Given the description of an element on the screen output the (x, y) to click on. 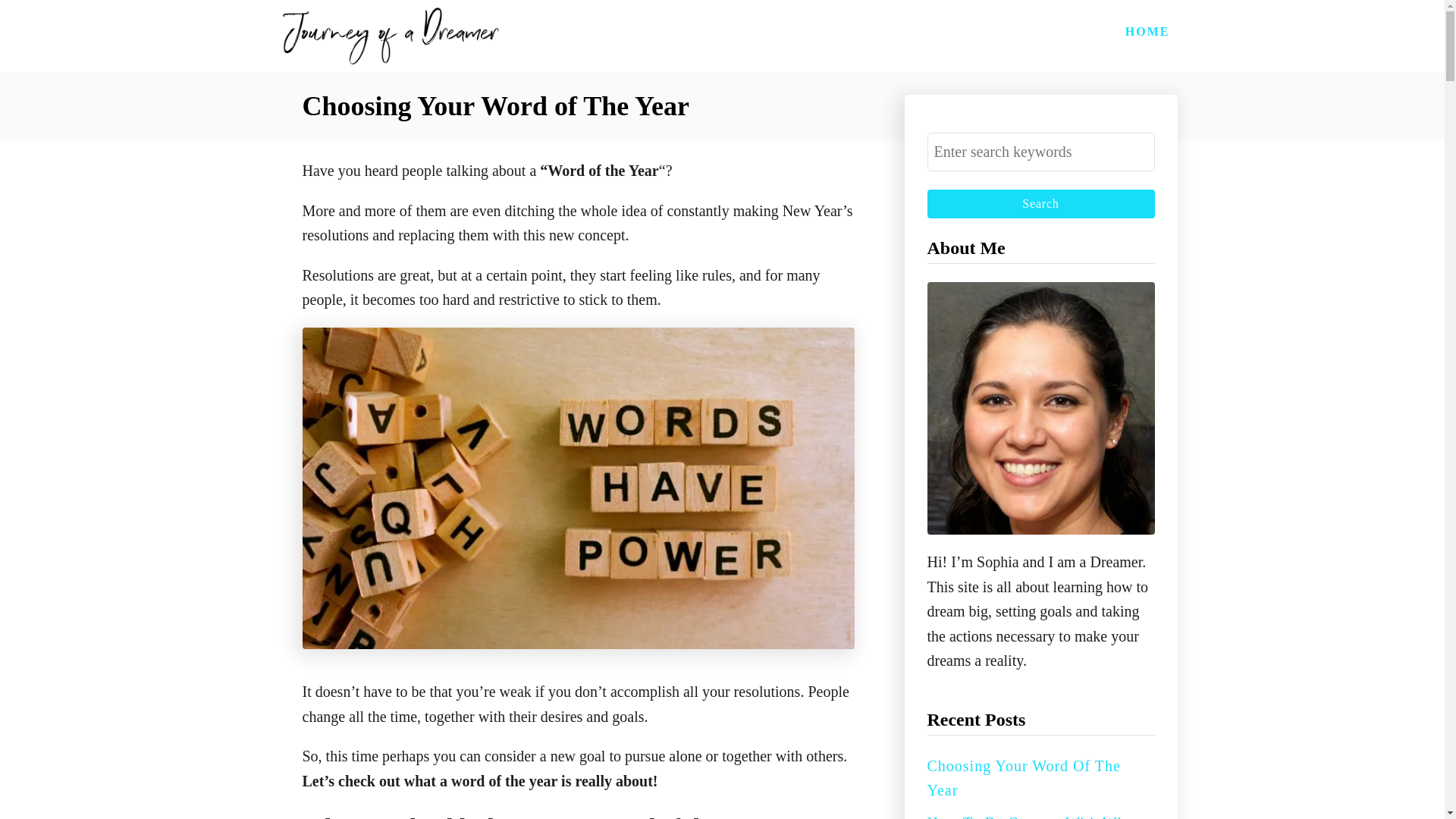
Search (1040, 203)
How To Be Content With What You Have (1032, 816)
Search (1040, 203)
Choosing Your Word Of The Year (1022, 778)
Search (1040, 203)
Search for: (1040, 151)
Journey of a Dreamer (390, 35)
HOME (1147, 31)
